Given the description of an element on the screen output the (x, y) to click on. 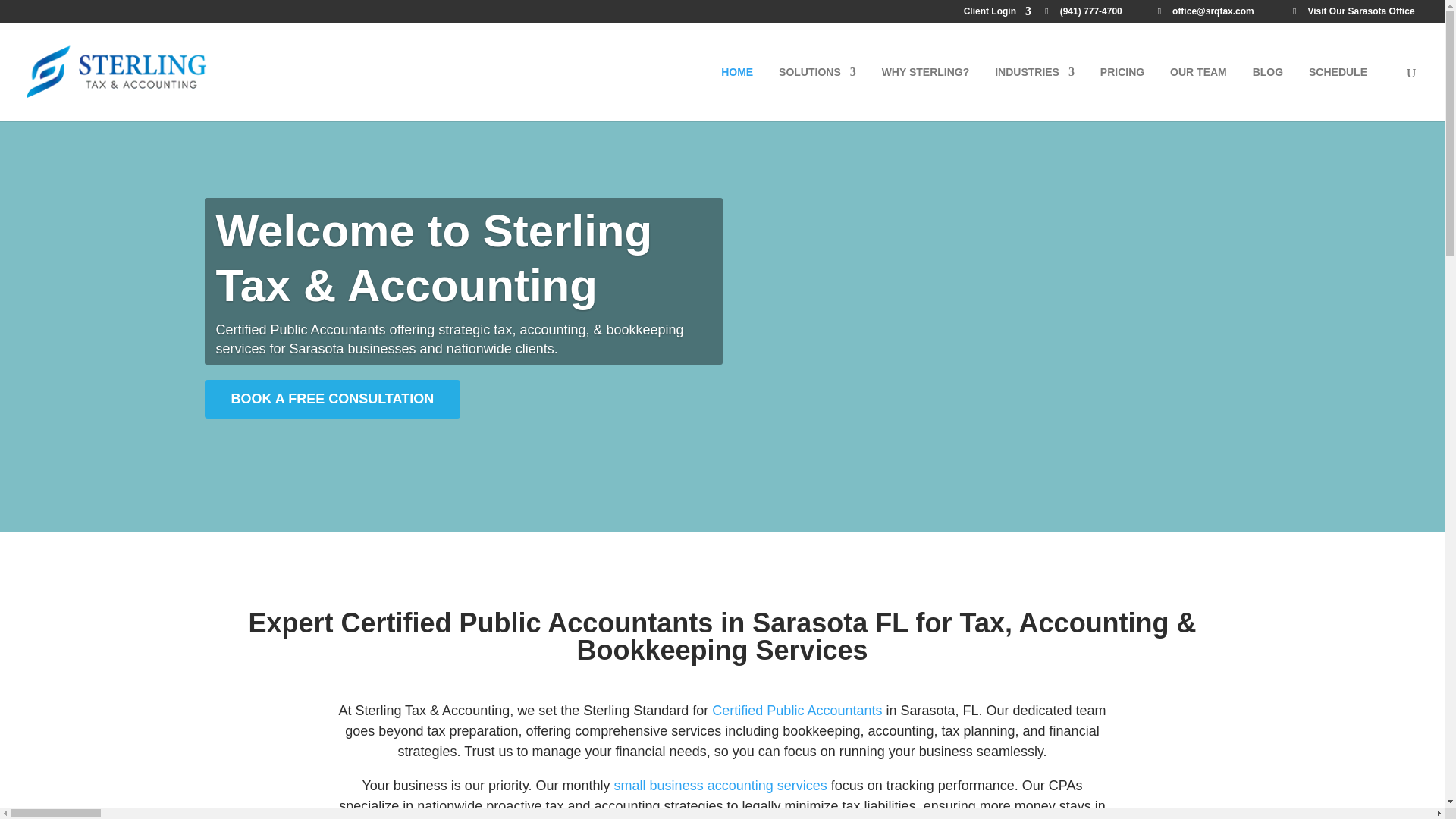
INDUSTRIES (1034, 93)
BOOK A FREE CONSULTATION (333, 443)
Tax And Accounting Solutions (817, 93)
Visit Our Sarasota Office (1357, 14)
SCHEDULE (1337, 93)
WHY STERLING? (925, 93)
Schedule Free Consultation (1337, 93)
SOLUTIONS (817, 93)
Industries (1034, 93)
OUR TEAM (1198, 93)
